Given the description of an element on the screen output the (x, y) to click on. 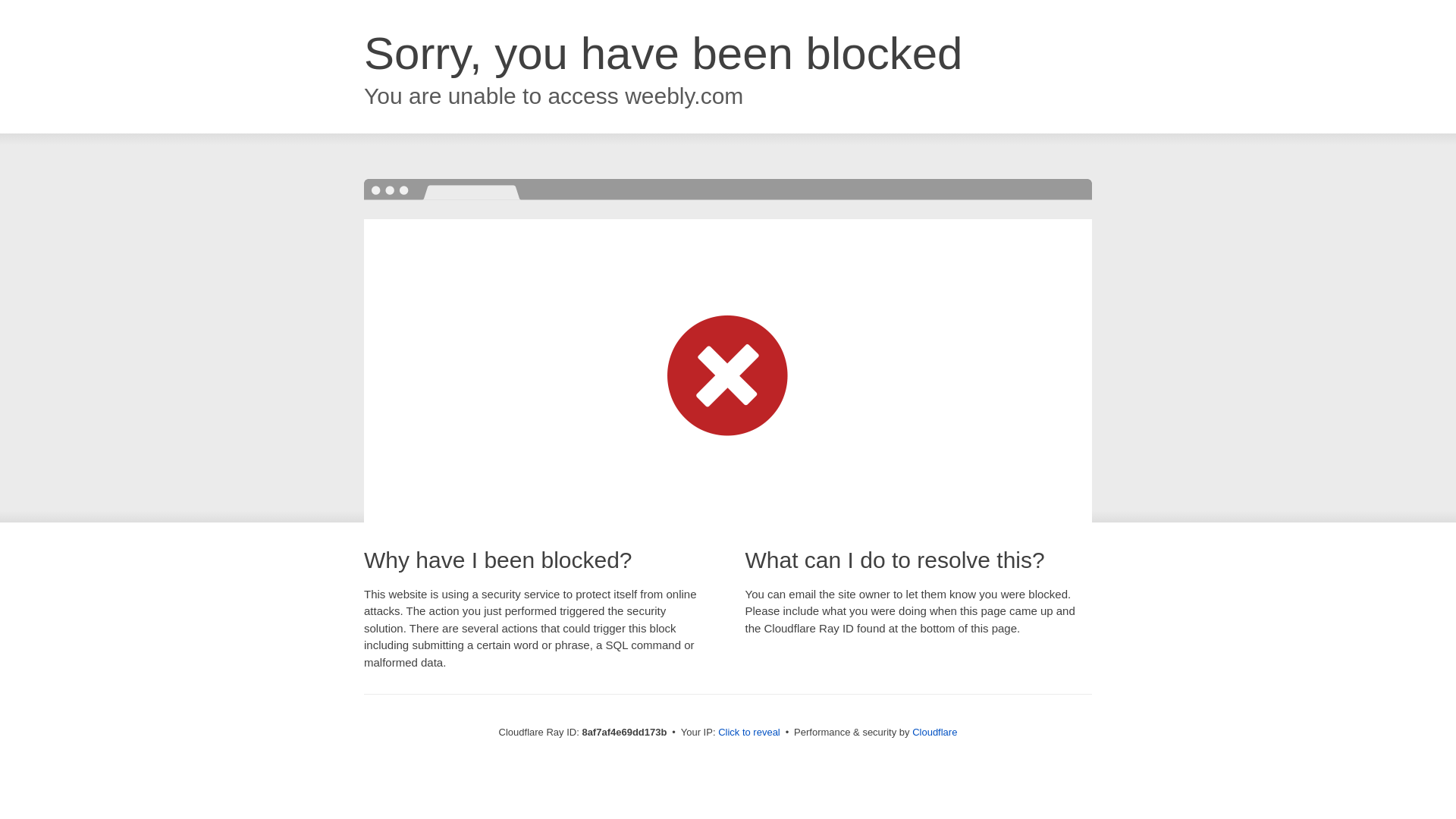
Click to reveal (748, 732)
Cloudflare (934, 731)
